Given the description of an element on the screen output the (x, y) to click on. 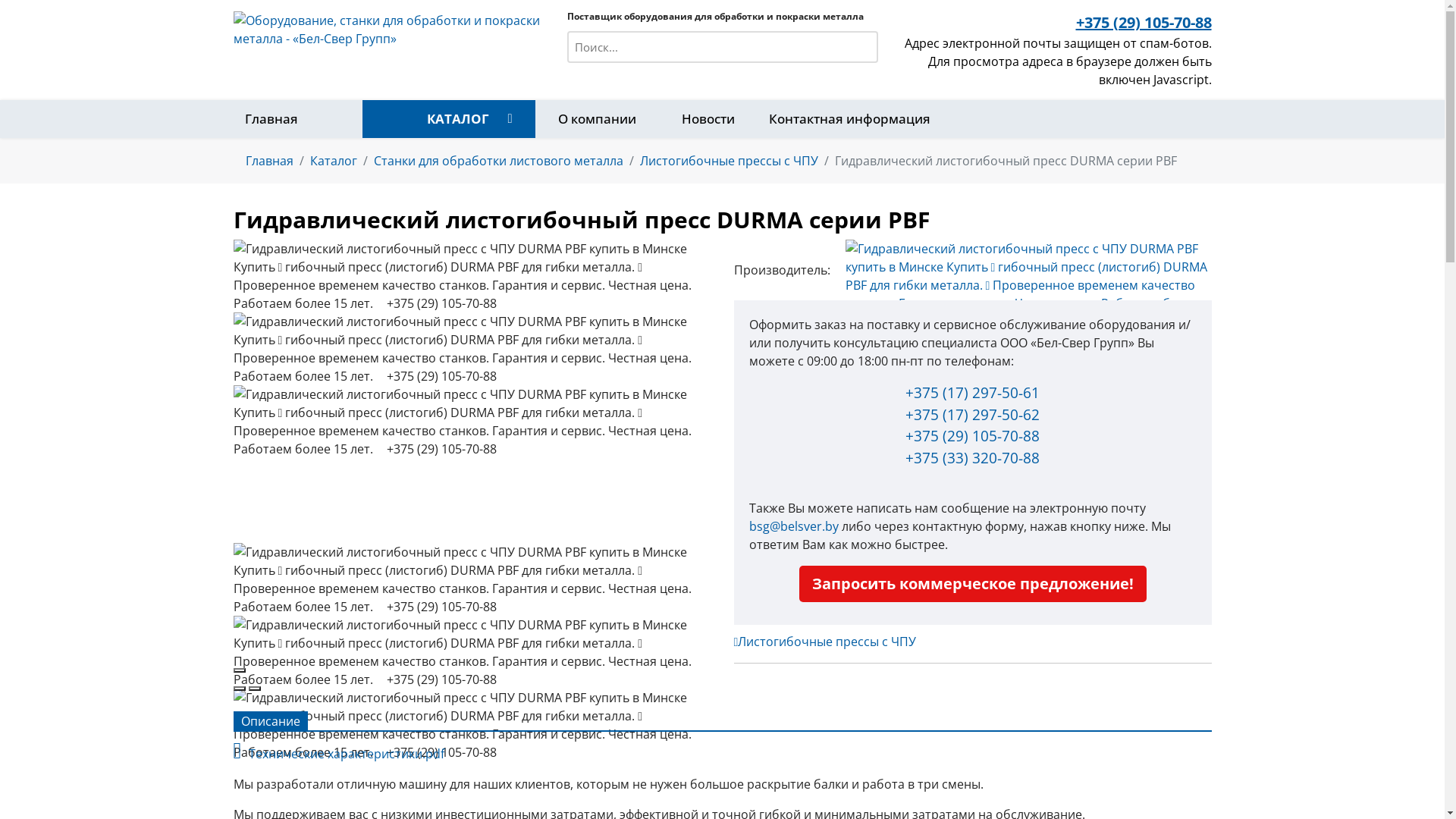
bsg@belsver.by Element type: text (793, 525)
Previous (arrow left) Element type: hover (239, 688)
+375 (33) 320-70-88 Element type: text (972, 457)
+375 (17) 297-50-61 Element type: text (972, 392)
+375 (29) 105-70-88 Element type: text (1143, 22)
+375 (17) 297-50-62 Element type: text (972, 414)
+375 (29) 105-70-88 Element type: text (972, 435)
Close (Esc) Element type: hover (239, 670)
Next (arrow right) Element type: hover (254, 688)
